Given the description of an element on the screen output the (x, y) to click on. 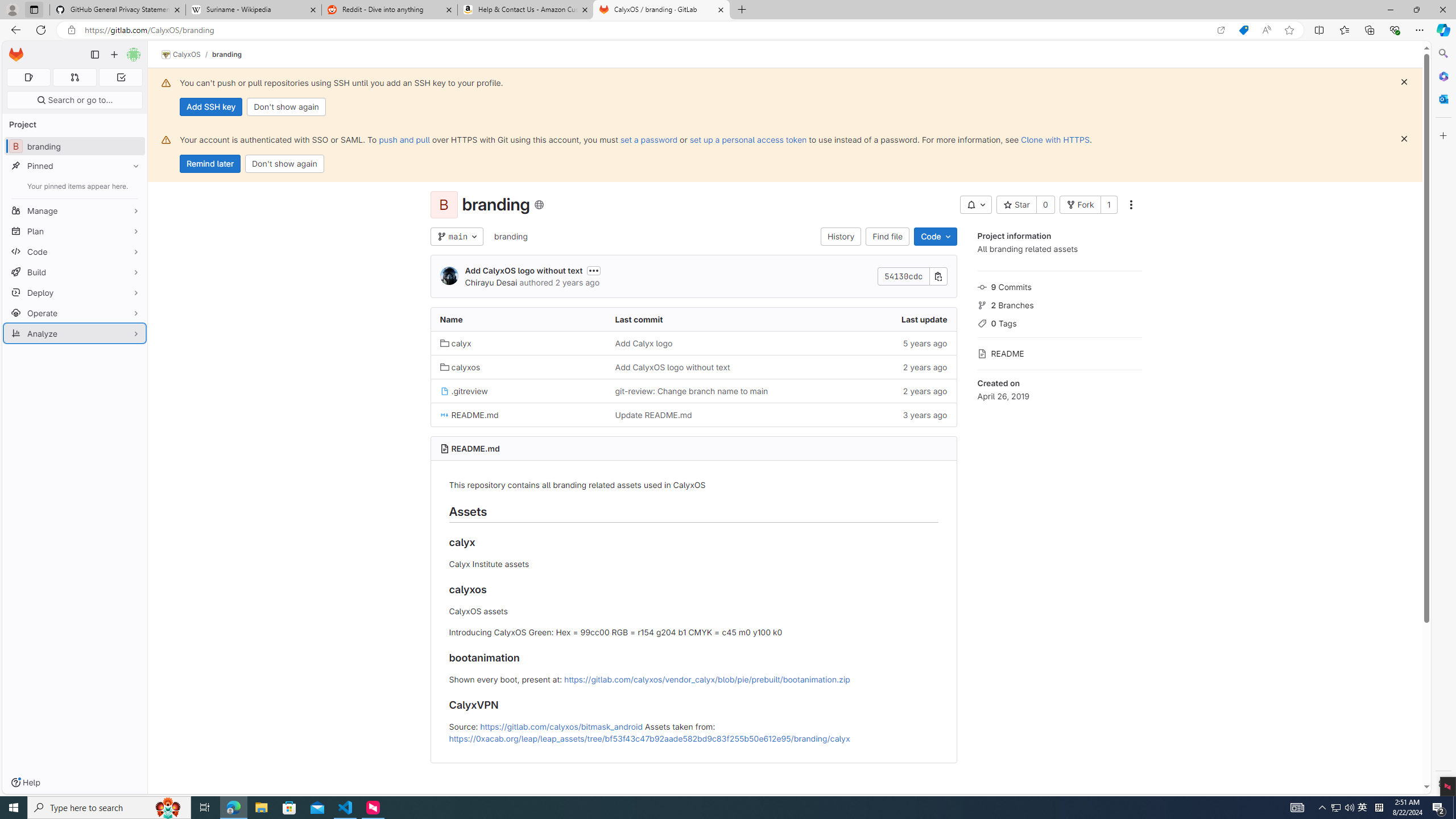
Class: s16 position-relative file-icon (444, 414)
Skip to main content (13, 49)
Add CalyxOS logo without text (672, 367)
Code (935, 236)
5 years ago (868, 342)
Suriname - Wikipedia (253, 9)
Code (74, 251)
.gitreview (517, 390)
